Given the description of an element on the screen output the (x, y) to click on. 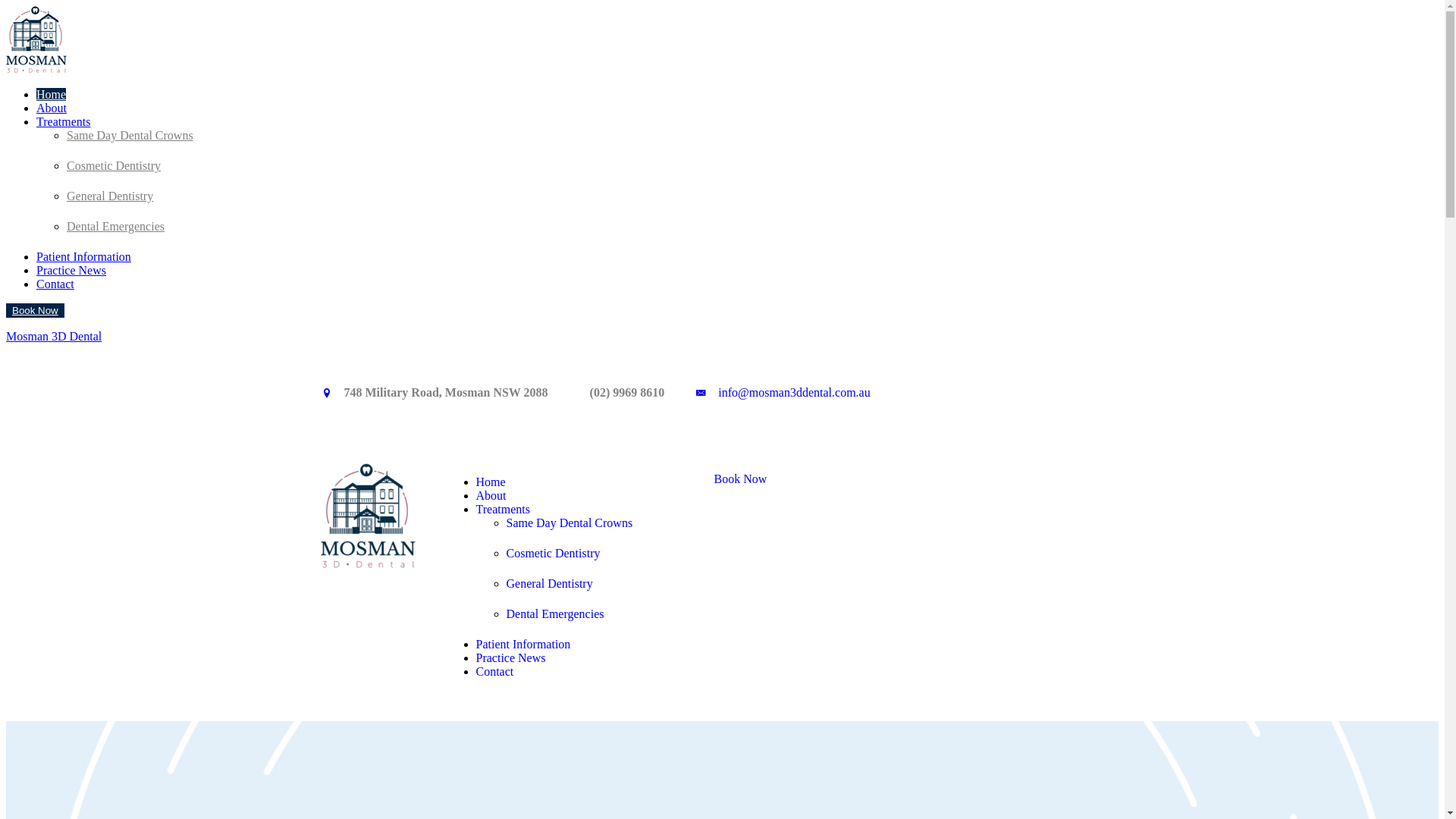
Book Now Element type: text (35, 310)
info@mosman3ddental.com.au Element type: text (793, 392)
Same Day Dental Crowns Element type: text (129, 135)
Same Day Dental Crowns Element type: text (569, 518)
Book Now Element type: text (740, 479)
Patient Information Element type: text (83, 256)
Treatments Element type: text (503, 508)
Patient Information Element type: text (523, 643)
748 Military Road, Mosman NSW 2088 Element type: text (446, 392)
About Element type: text (51, 107)
Treatments Element type: text (63, 121)
Book Now Element type: text (35, 310)
Cosmetic Dentistry Element type: text (113, 165)
Contact Element type: text (55, 283)
Contact Element type: text (495, 671)
General Dentistry Element type: text (549, 578)
Practice News Element type: text (511, 657)
Dental Emergencies Element type: text (555, 609)
General Dentistry Element type: text (109, 196)
Practice News Element type: text (71, 269)
Cosmetic Dentistry Element type: text (553, 548)
Mosman-3d-logo-150x150 Element type: hover (367, 515)
(02) 9969 8610 Element type: text (627, 392)
About Element type: text (491, 495)
Home Element type: text (50, 93)
Home Element type: text (490, 481)
Dental Emergencies Element type: text (115, 226)
Mosman 3D Dental Element type: text (53, 335)
